Given the description of an element on the screen output the (x, y) to click on. 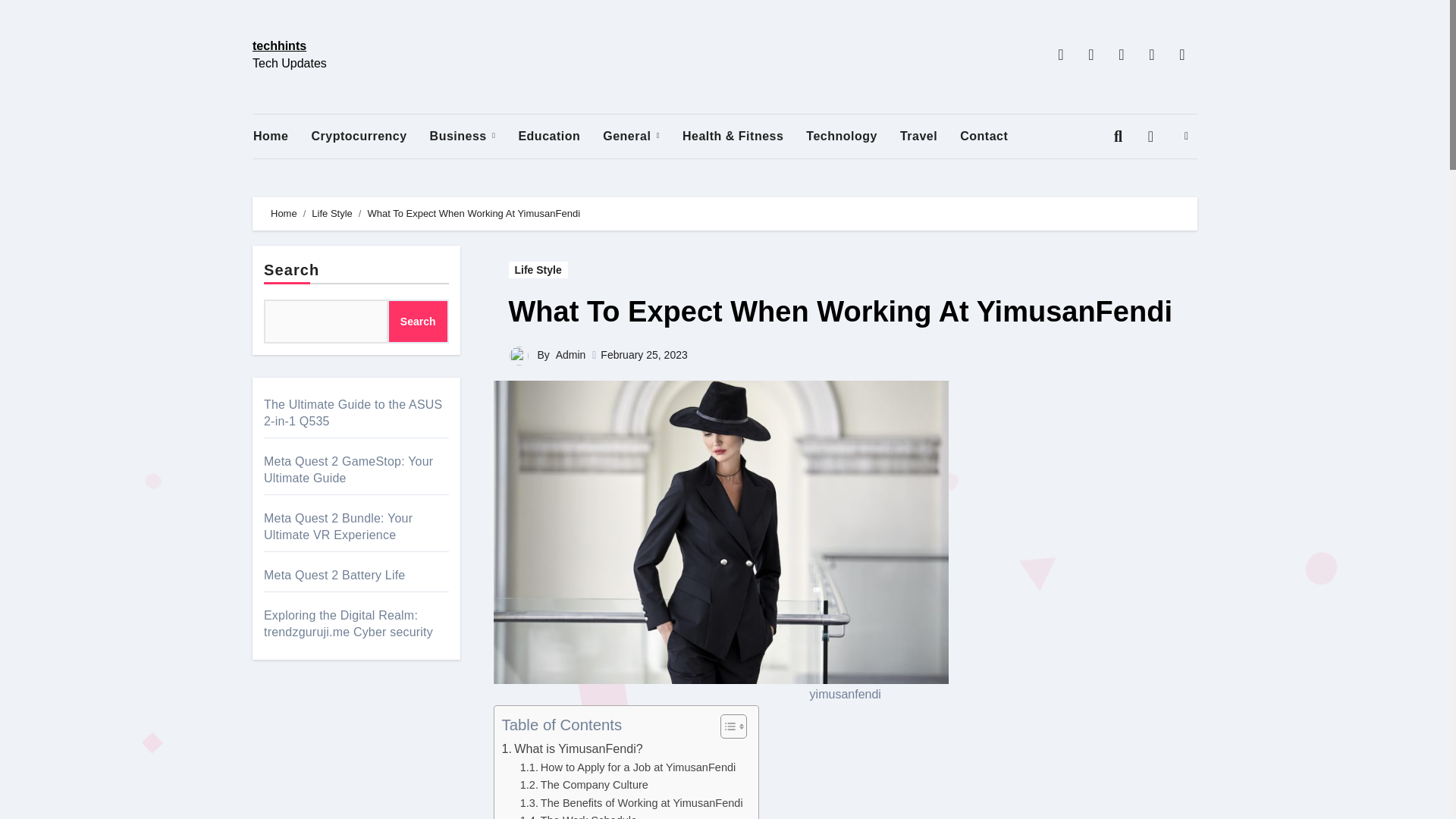
Travel (929, 136)
Permalink to: What To Expect When Working At YimusanFendi (840, 311)
Home (282, 136)
Technology (852, 136)
Technology (852, 136)
Travel (929, 136)
Cryptocurrency (370, 136)
Contact (994, 136)
Life Style (537, 269)
Home (282, 136)
Education (560, 136)
Business (473, 136)
Meta Quest 2 Bundle: Your Ultimate VR Experience (337, 526)
What is YimusanFendi? (572, 749)
Contact (994, 136)
